Given the description of an element on the screen output the (x, y) to click on. 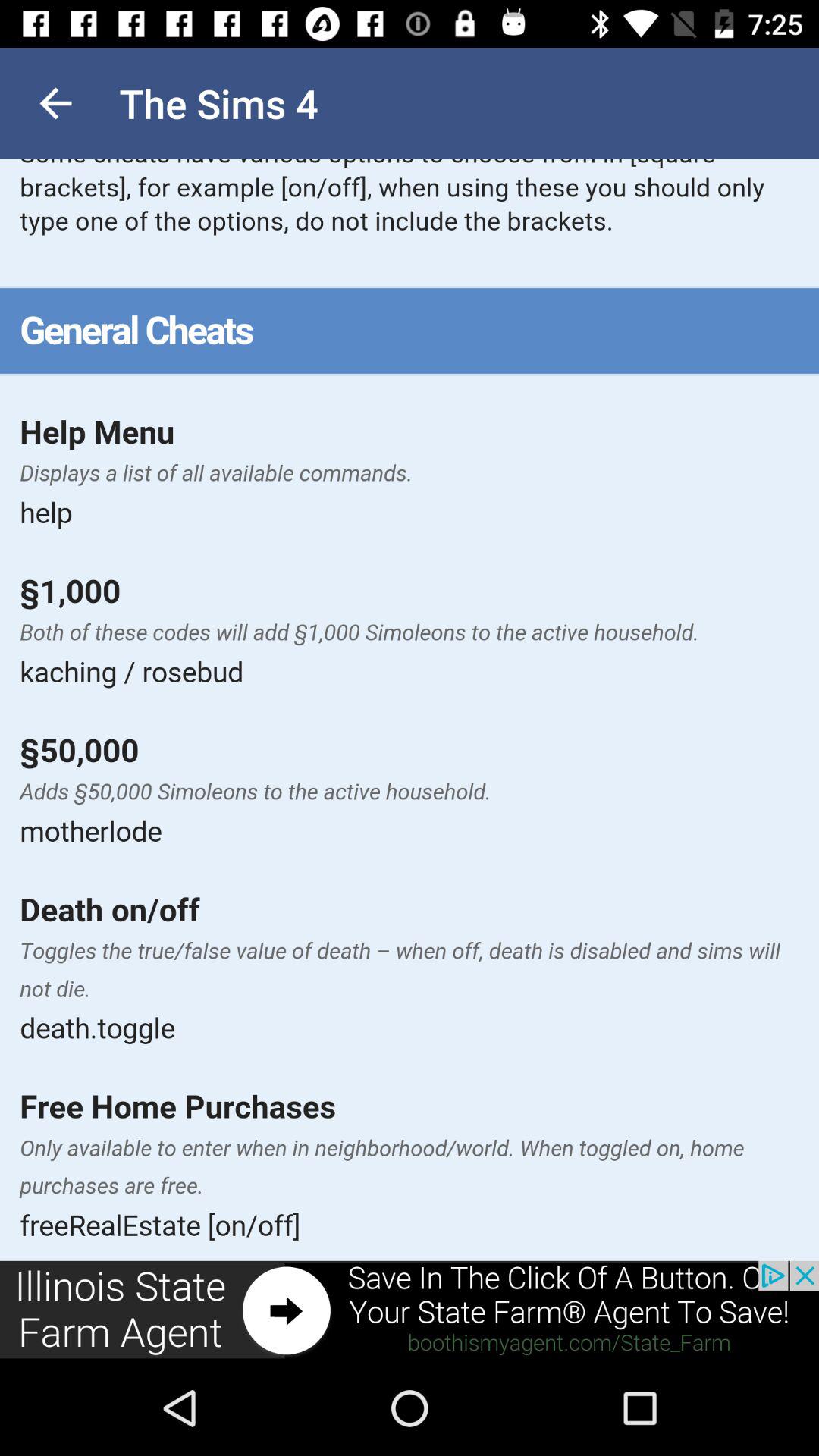
its an advertisement (409, 1310)
